Given the description of an element on the screen output the (x, y) to click on. 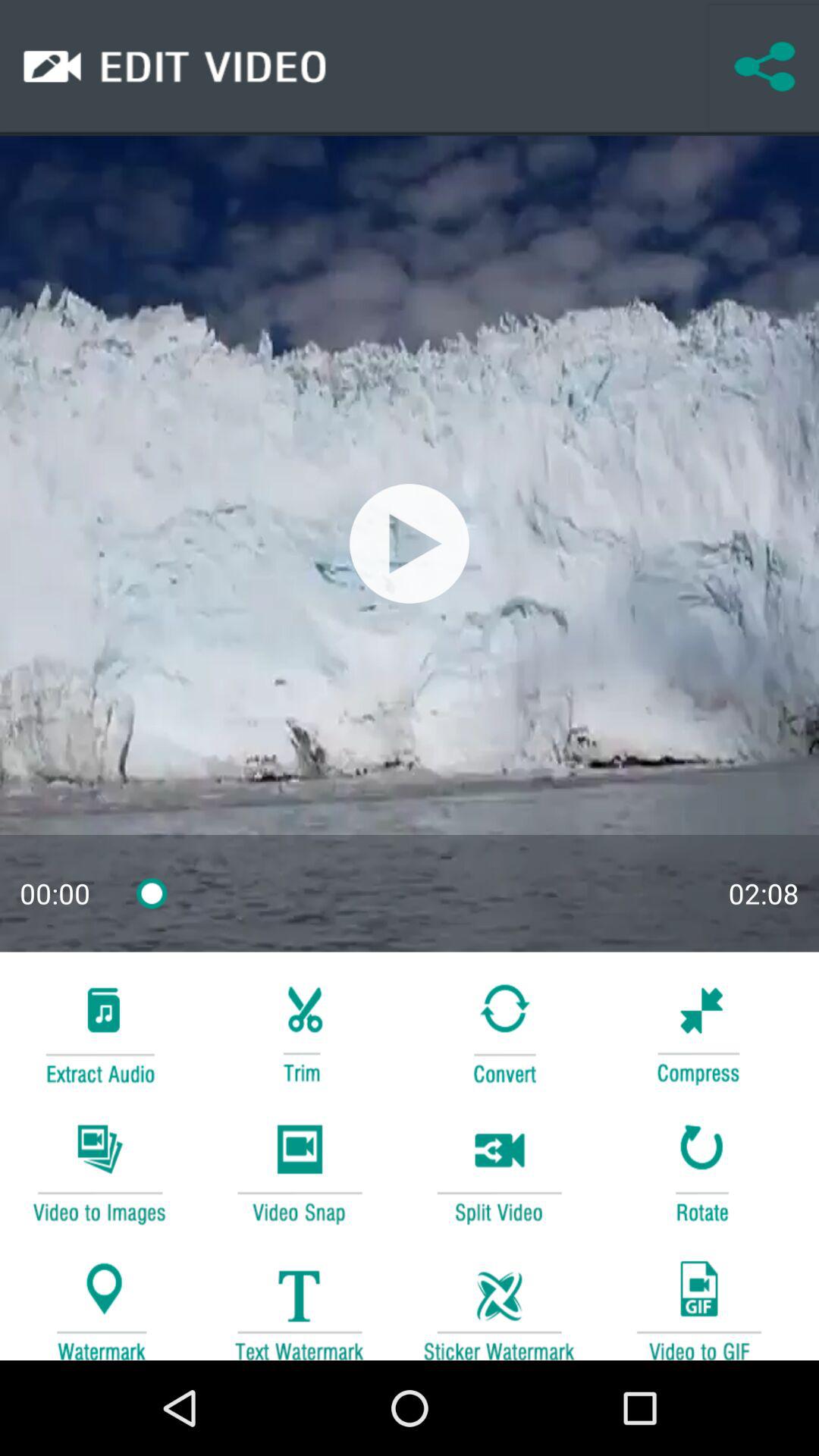
convert video to images (99, 1171)
